Given the description of an element on the screen output the (x, y) to click on. 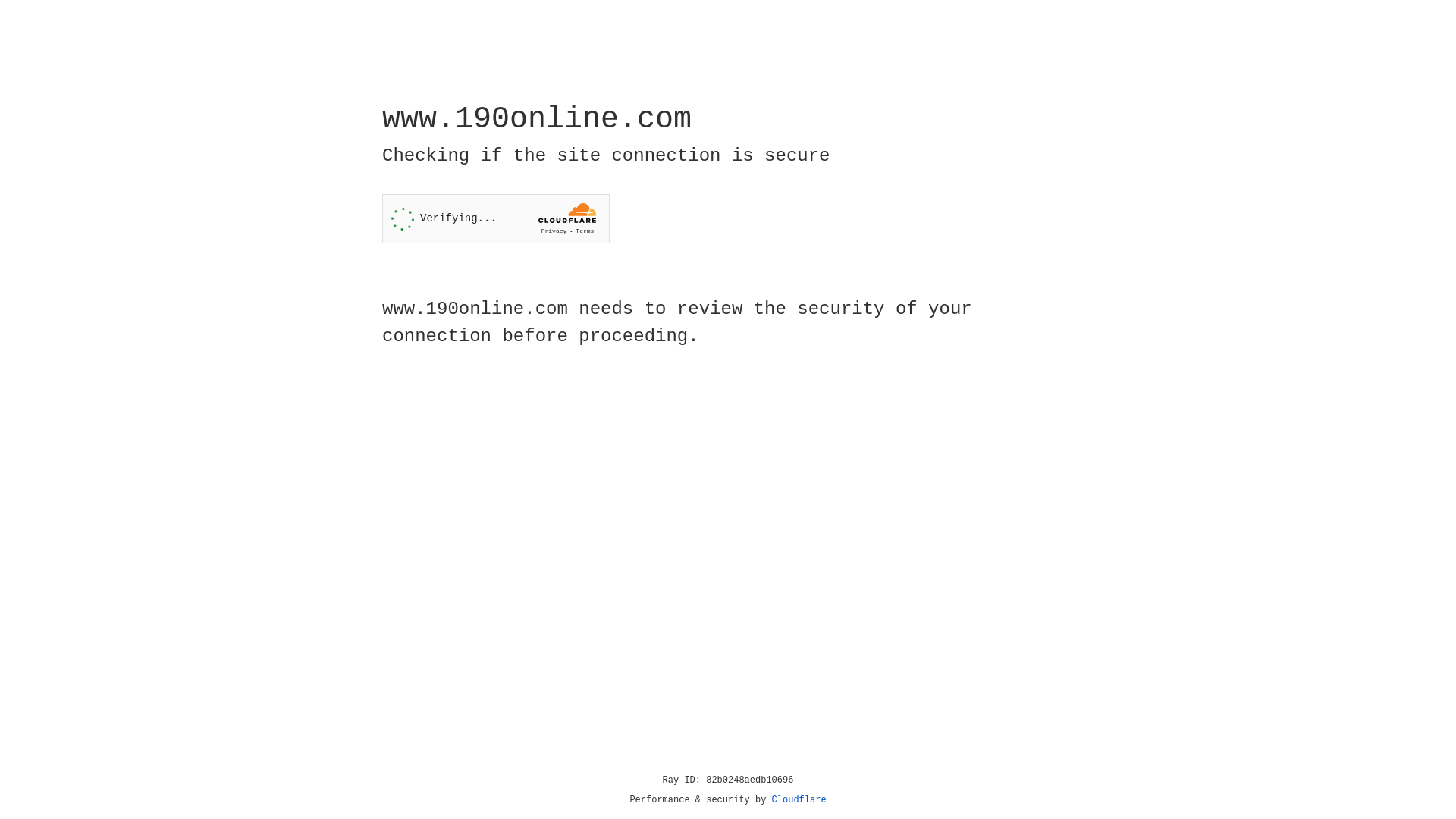
Cloudflare Element type: text (798, 799)
